Given the description of an element on the screen output the (x, y) to click on. 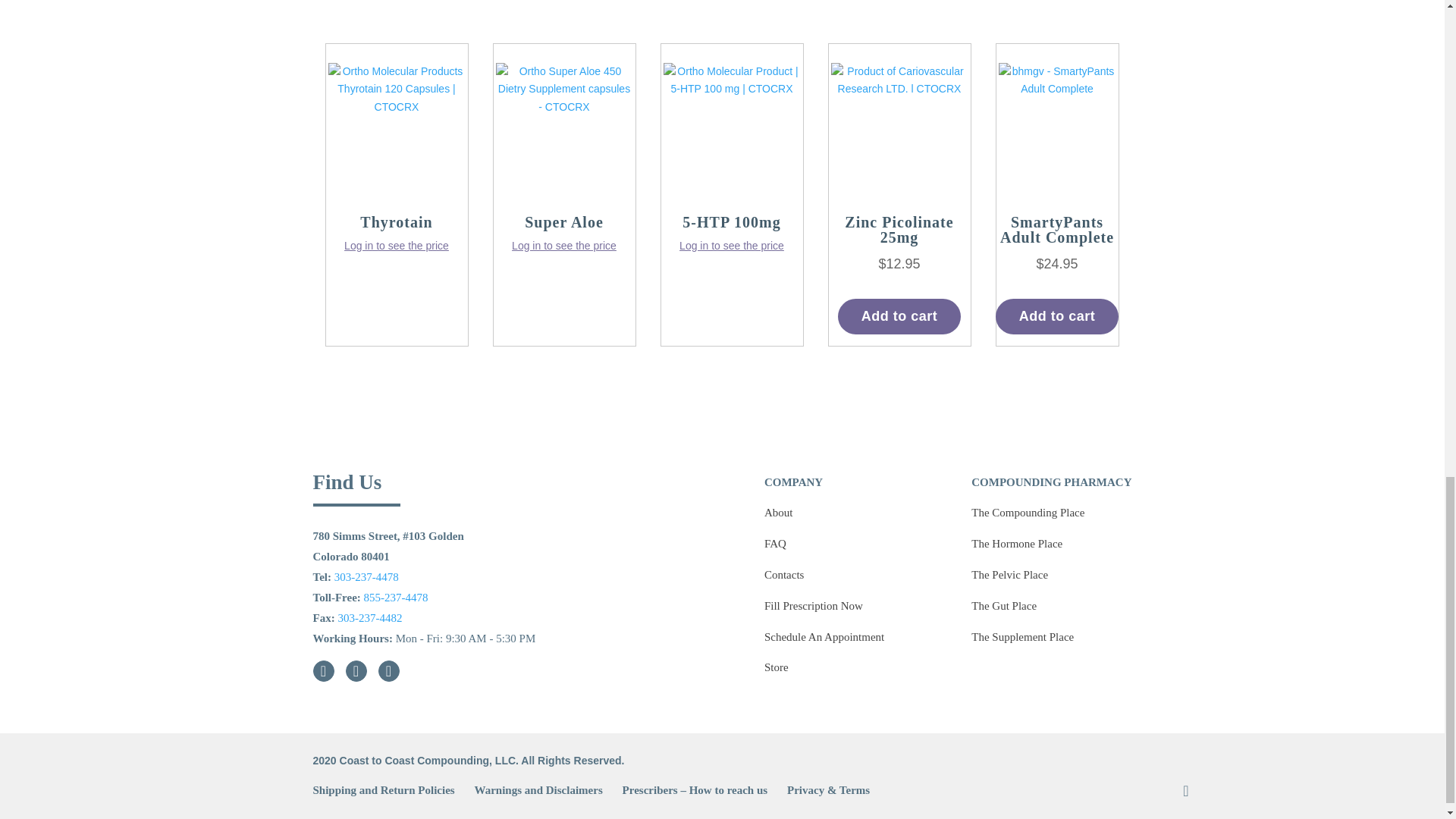
855-237-4478 (396, 597)
Log in to see the price (731, 245)
FAQ (775, 543)
303-237-4482 (369, 617)
Log in to see the price (395, 245)
Add to cart (1056, 316)
303-237-4478 (366, 576)
Fill Prescription Now (813, 605)
About (778, 512)
Add to cart (899, 316)
